Given the description of an element on the screen output the (x, y) to click on. 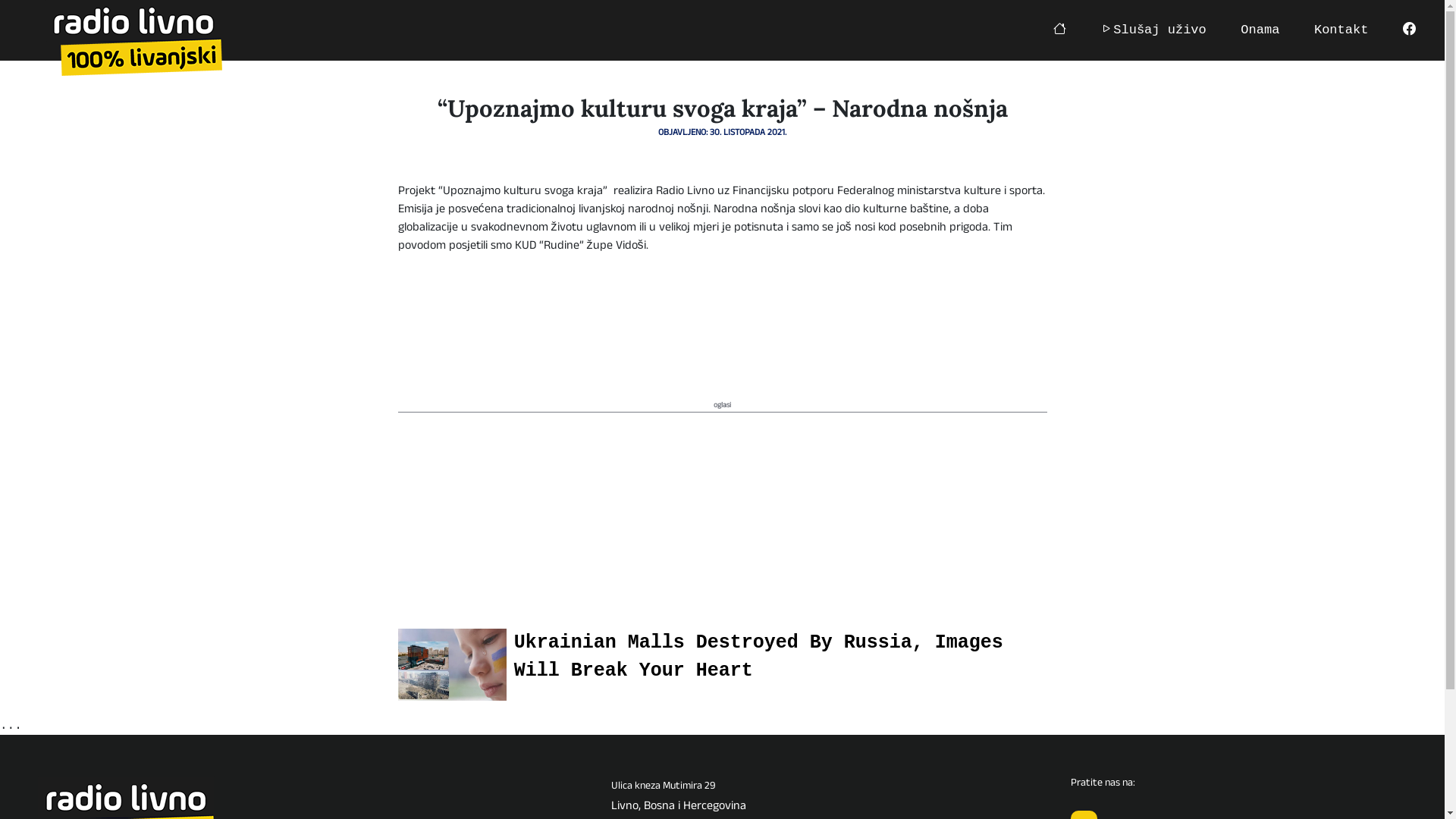
Onama Element type: text (1259, 29)
Kontakt Element type: text (1340, 29)
Advertisement Element type: hover (721, 518)
